Given the description of an element on the screen output the (x, y) to click on. 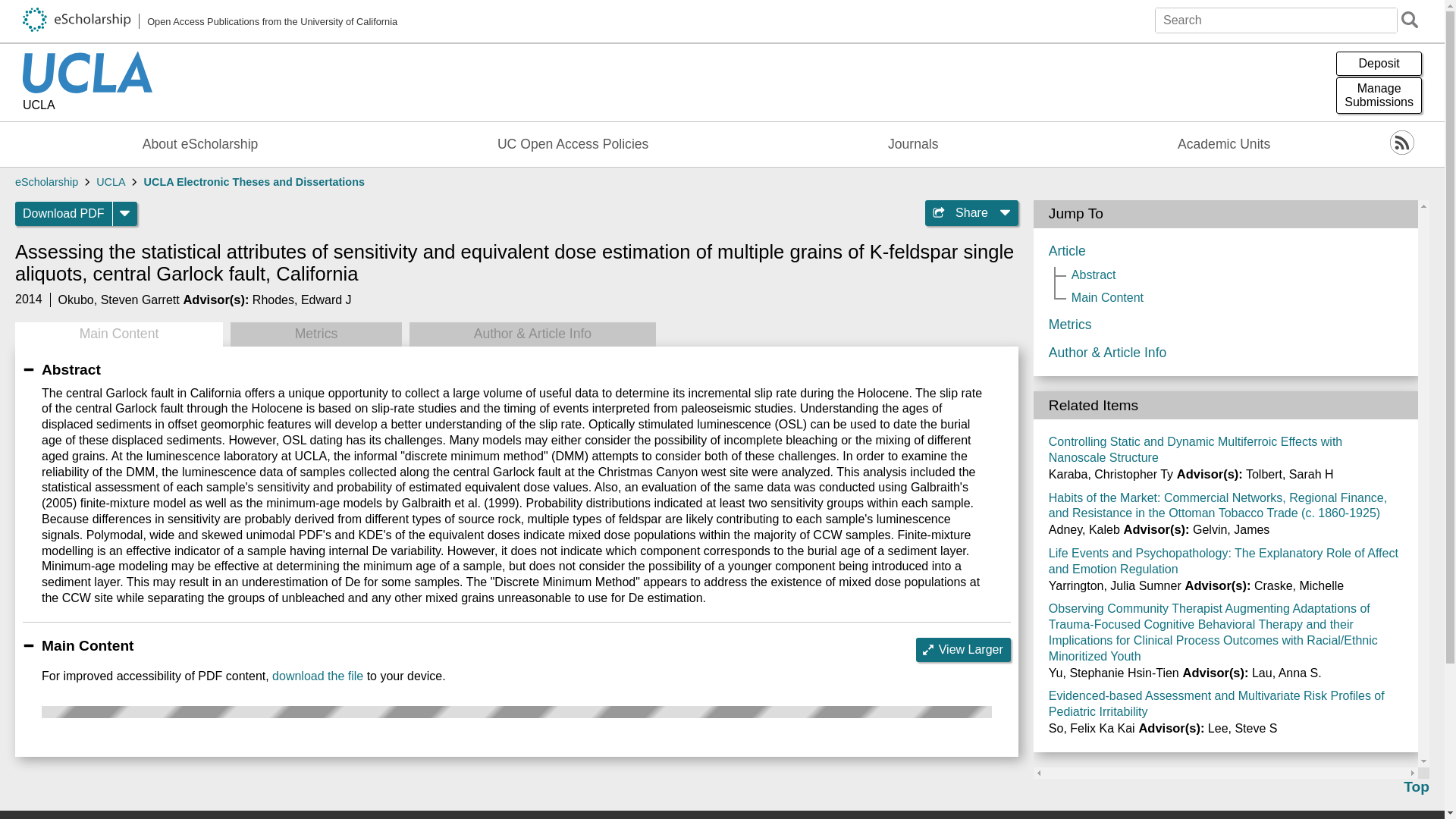
Okubo, Steven Garrett (118, 299)
Main Content (1379, 94)
UCLA (118, 334)
UCLA Electronic Theses and Dissertations (87, 105)
download the file (254, 182)
eScholarship (317, 675)
View Larger (46, 182)
Metrics (962, 649)
Open Access Publications from the University of California (315, 334)
Journals (210, 21)
Academic Units (913, 143)
About eScholarship (1224, 143)
Download PDF (200, 143)
Deposit (63, 213)
